Given the description of an element on the screen output the (x, y) to click on. 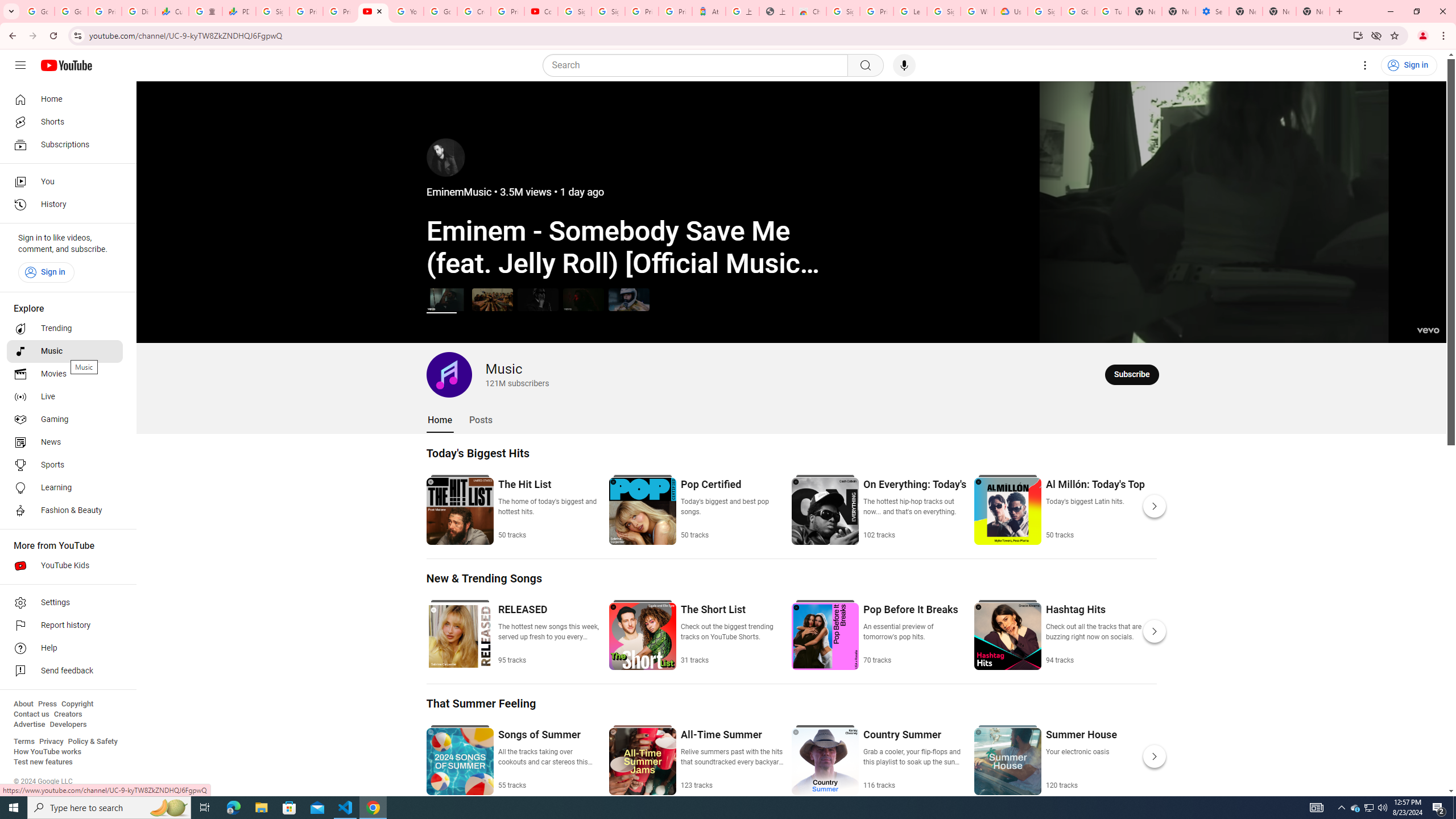
YouTube Home (66, 65)
Settings (1365, 65)
Policy & Safety (91, 741)
Copyright (77, 703)
Help (64, 648)
Pop Certified Today's biggest and best pop songs. 50 tracks (731, 508)
Privacy Checkup (339, 11)
Music 121 million subscribers (487, 374)
Send feedback (64, 671)
Subscribe to Music. (1131, 374)
